Given the description of an element on the screen output the (x, y) to click on. 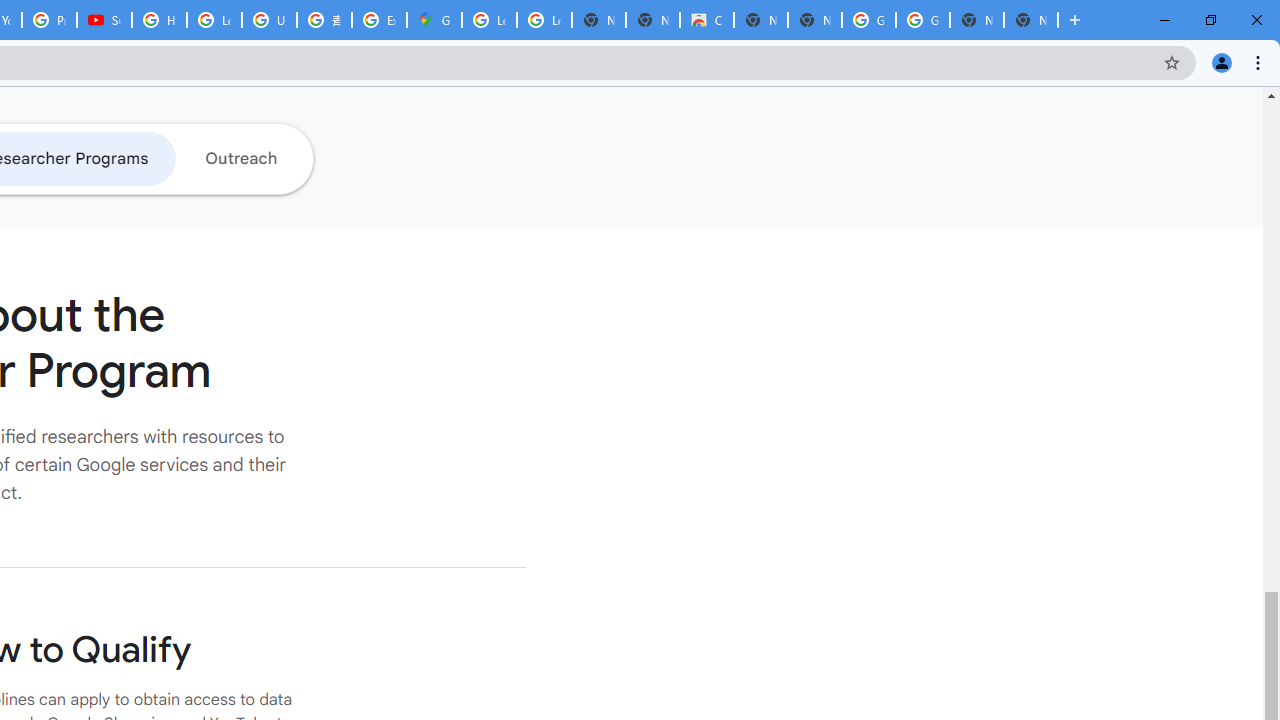
Google Images (868, 20)
